Given the description of an element on the screen output the (x, y) to click on. 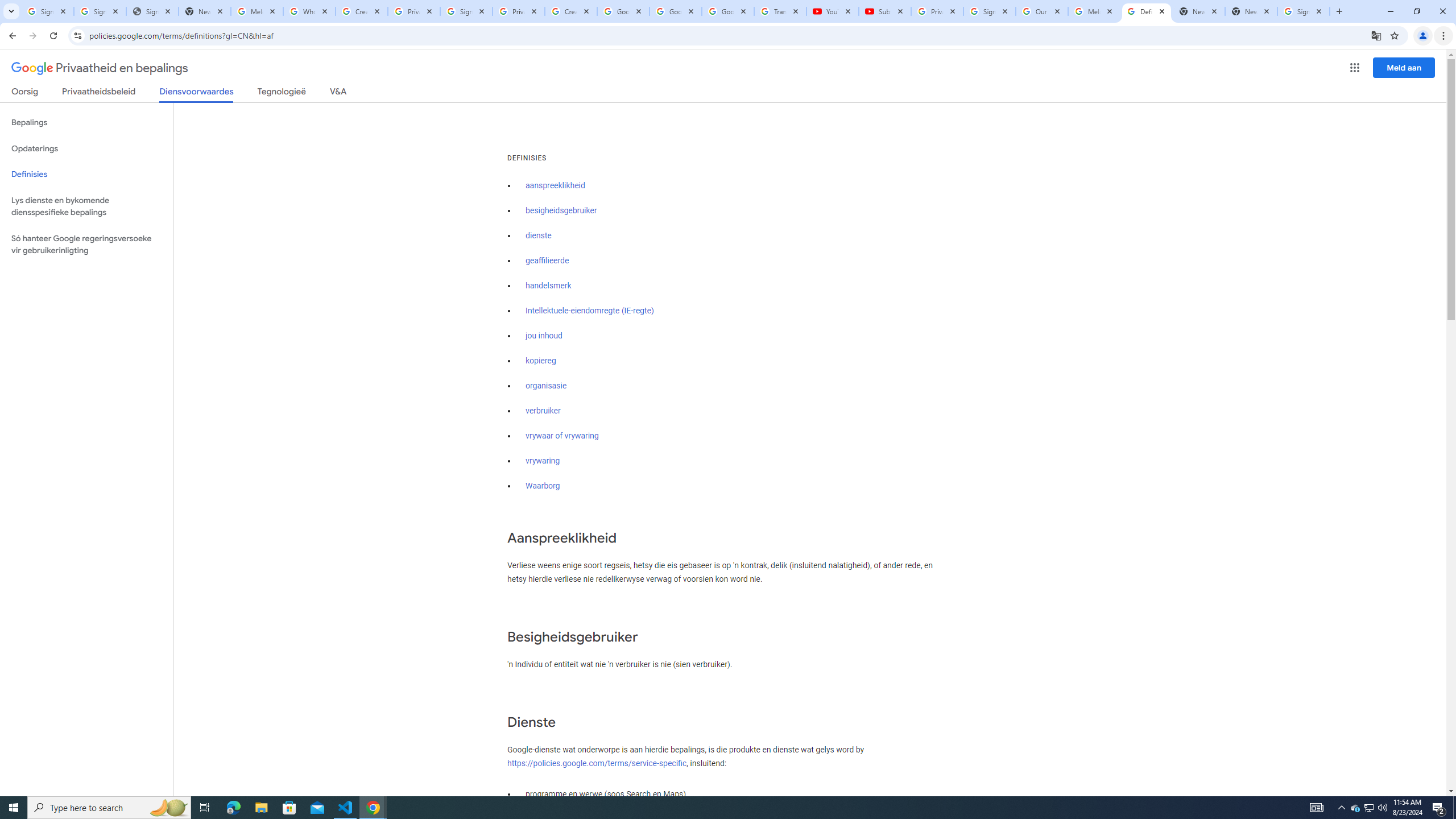
handelsmerk (548, 285)
besigheidsgebruiker (560, 210)
New Tab (1251, 11)
Privaatheid en bepalings (99, 68)
Sign in - Google Accounts (989, 11)
jou inhoud (543, 335)
Translate this page (1376, 35)
Intellektuele-eiendomregte (IE-regte) (589, 311)
Oorsig (25, 93)
Google Account (727, 11)
